Given the description of an element on the screen output the (x, y) to click on. 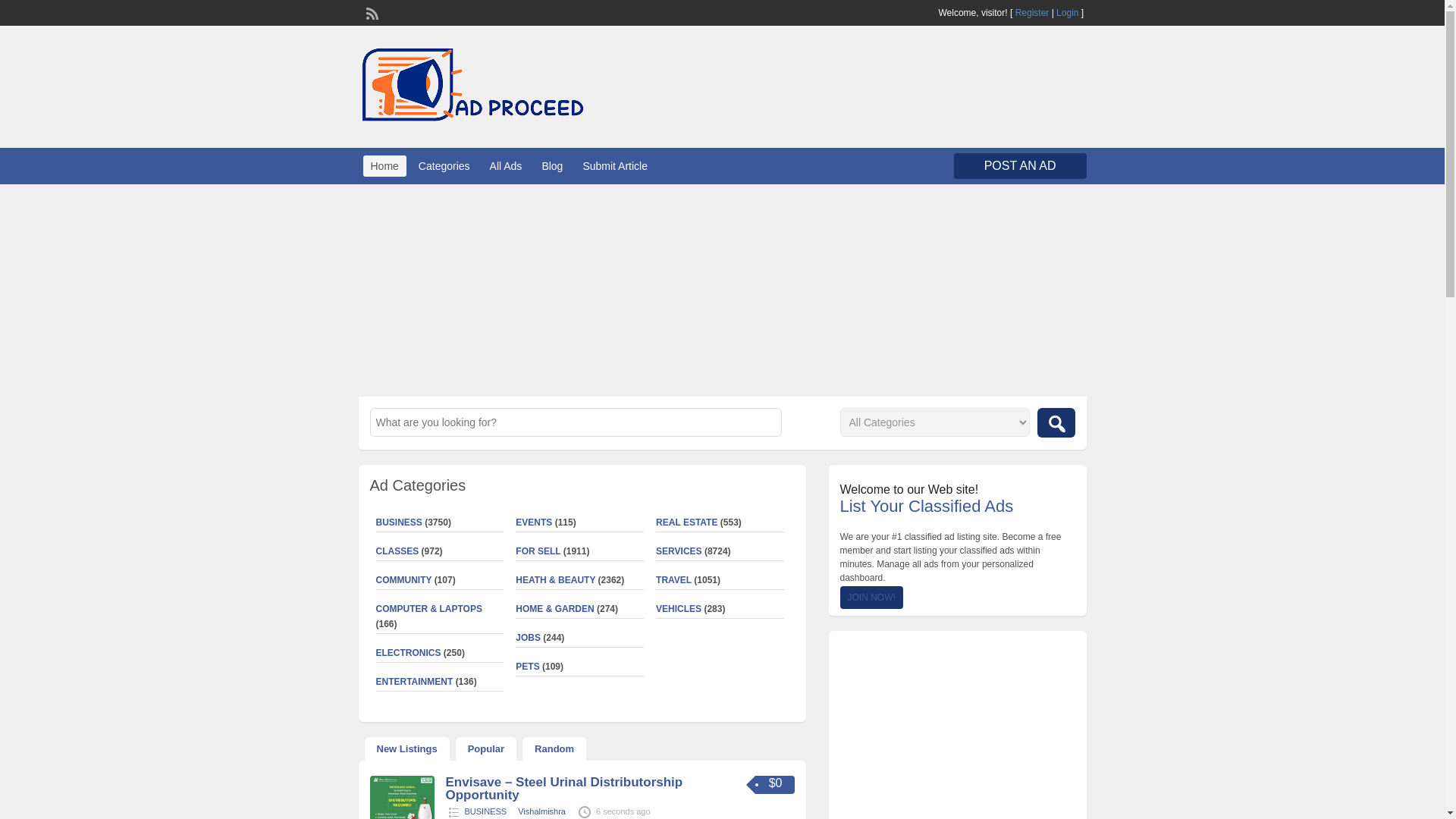
RSS Feed (369, 11)
Home (384, 165)
Blog (552, 165)
CLASSES (397, 551)
PETS (526, 665)
Categories (443, 165)
ENTERTAINMENT (413, 681)
search (1055, 422)
Login (1067, 12)
REAL ESTATE (686, 521)
POST AN AD (1019, 166)
Submit Article (615, 165)
FOR SELL (537, 551)
Register (1031, 12)
JOBS (527, 637)
